Given the description of an element on the screen output the (x, y) to click on. 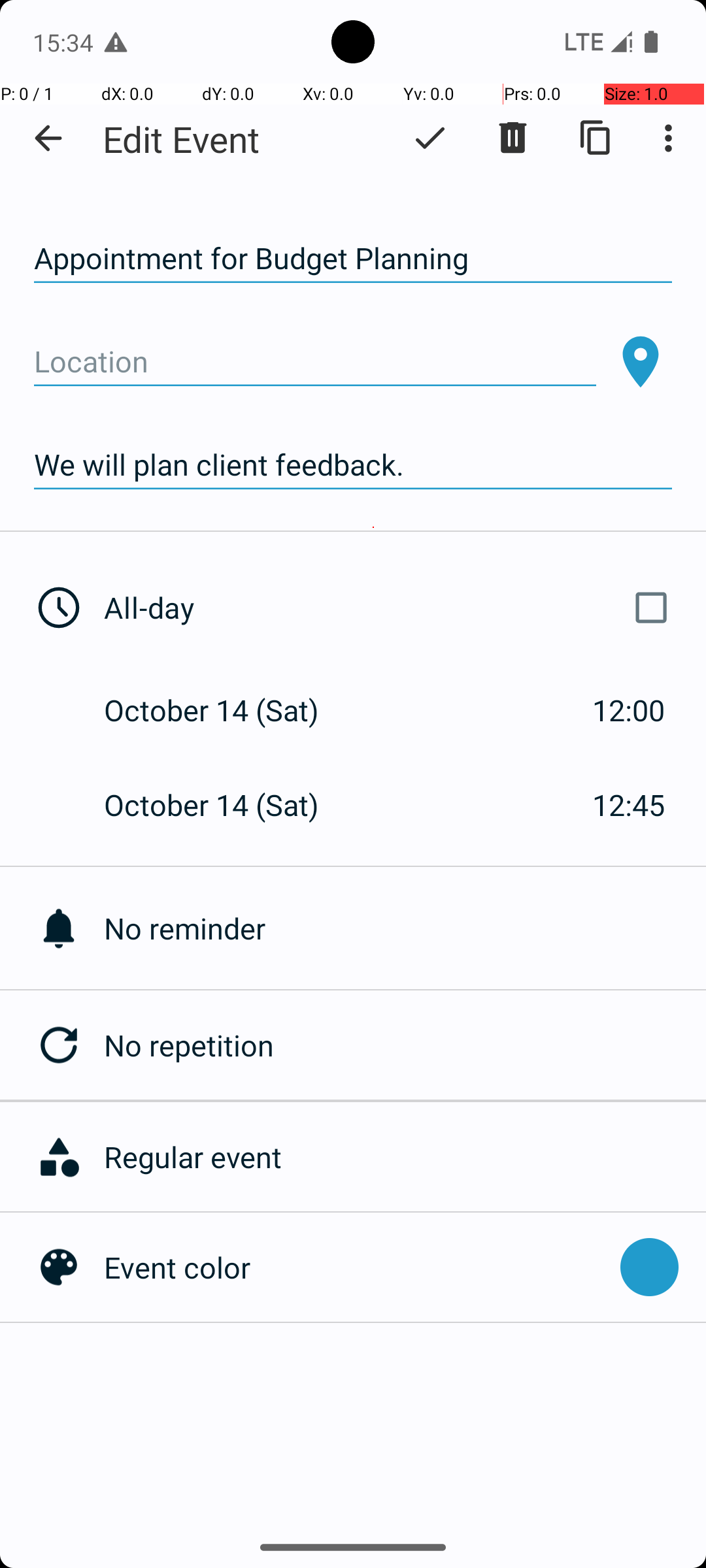
Edit Event Element type: android.widget.TextView (181, 138)
Duplicate event Element type: android.widget.Button (595, 137)
Appointment for Budget Planning Element type: android.widget.EditText (352, 258)
Location Element type: android.widget.EditText (314, 361)
We will plan client feedback. Element type: android.widget.EditText (352, 465)
October 14 (Sat) Element type: android.widget.TextView (224, 709)
12:00 Element type: android.widget.TextView (628, 709)
12:45 Element type: android.widget.TextView (628, 804)
No reminder Element type: android.widget.TextView (404, 927)
No repetition Element type: android.widget.TextView (404, 1044)
All-day Element type: android.widget.CheckBox (390, 607)
Regular event Element type: android.widget.TextView (397, 1156)
Event color Element type: android.widget.TextView (354, 1266)
